Given the description of an element on the screen output the (x, y) to click on. 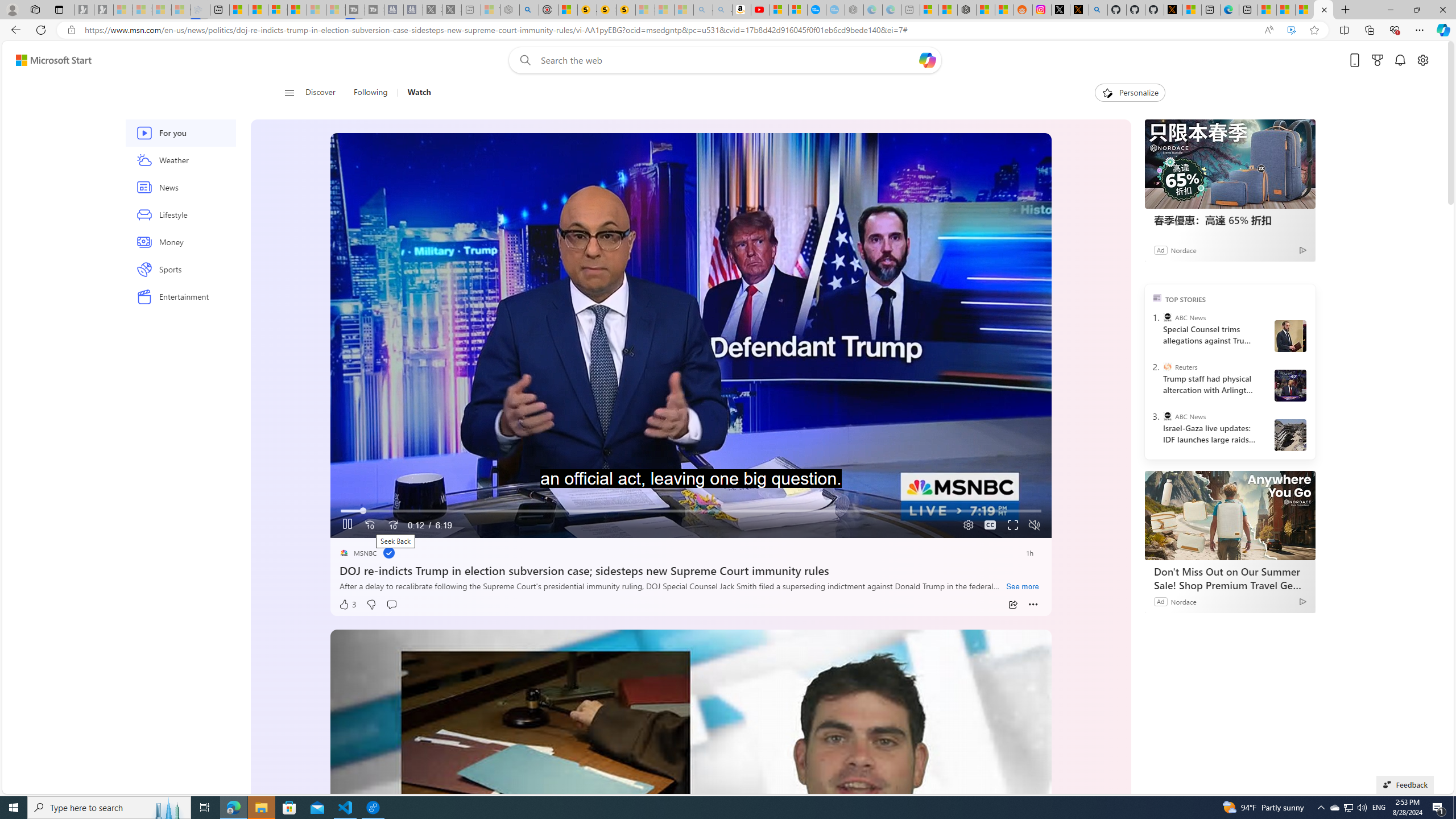
Unmute (1034, 524)
Michelle Starr, Senior Journalist at ScienceAlert (625, 9)
Enhance video (1291, 29)
Reuters (1167, 366)
ABC News (1167, 415)
Nordace - Summer Adventures 2024 - Sleeping (509, 9)
